Given the description of an element on the screen output the (x, y) to click on. 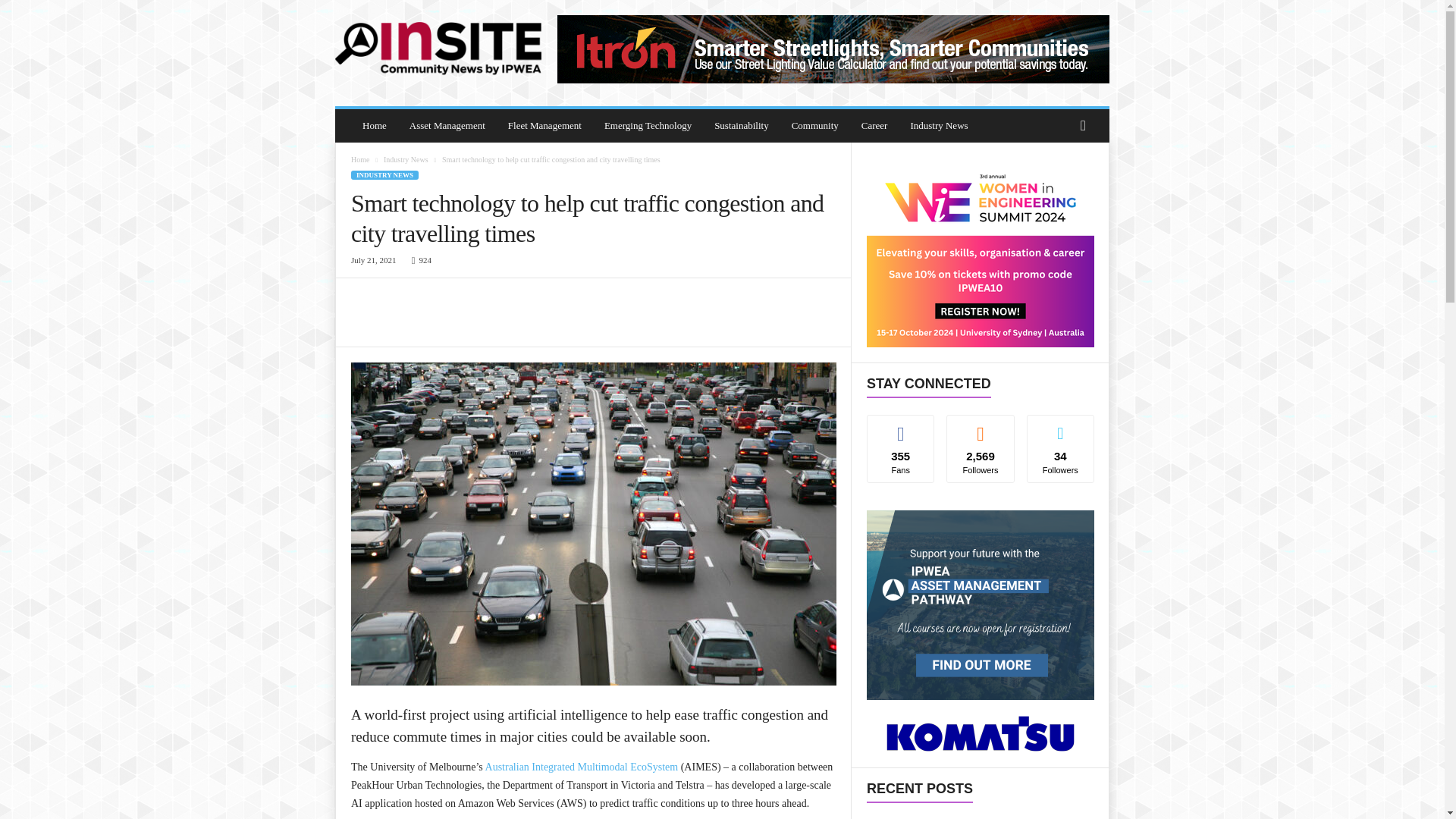
Community (815, 125)
View all posts in Industry News (406, 159)
Sustainability (741, 125)
INDUSTRY NEWS (384, 174)
Emerging Technology (647, 125)
Home (359, 159)
Home (373, 125)
Asset Management (446, 125)
Institue of Public Works Engineering Australasia (437, 49)
Fleet Management (544, 125)
